Given the description of an element on the screen output the (x, y) to click on. 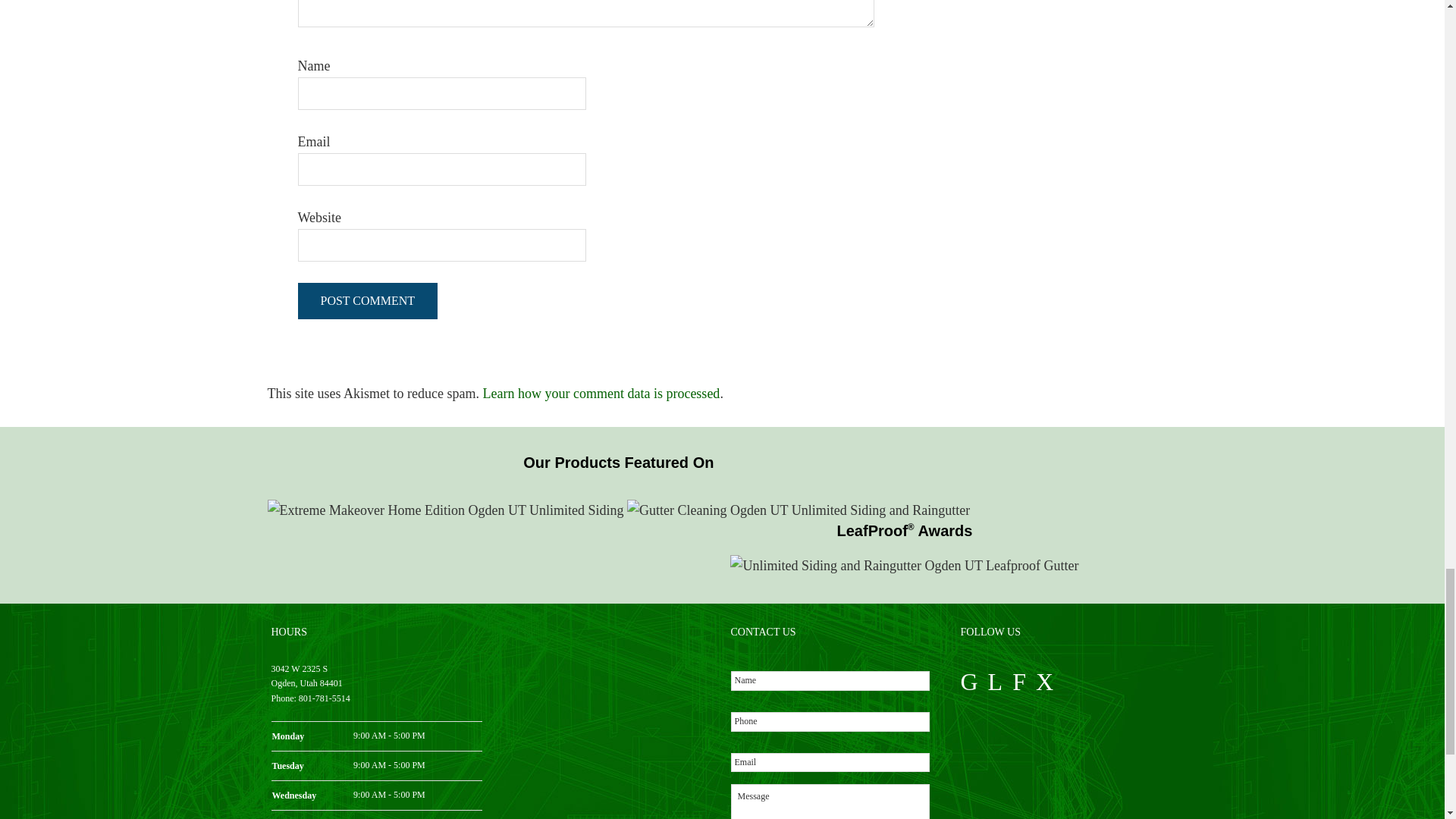
F (1018, 681)
G (967, 681)
Post Comment (367, 300)
Post Comment (367, 300)
X (1043, 681)
L (995, 681)
Learn how your comment data is processed (600, 393)
Unlimited Siding Google Maps Location (605, 719)
801-781-5514 (324, 697)
